Given the description of an element on the screen output the (x, y) to click on. 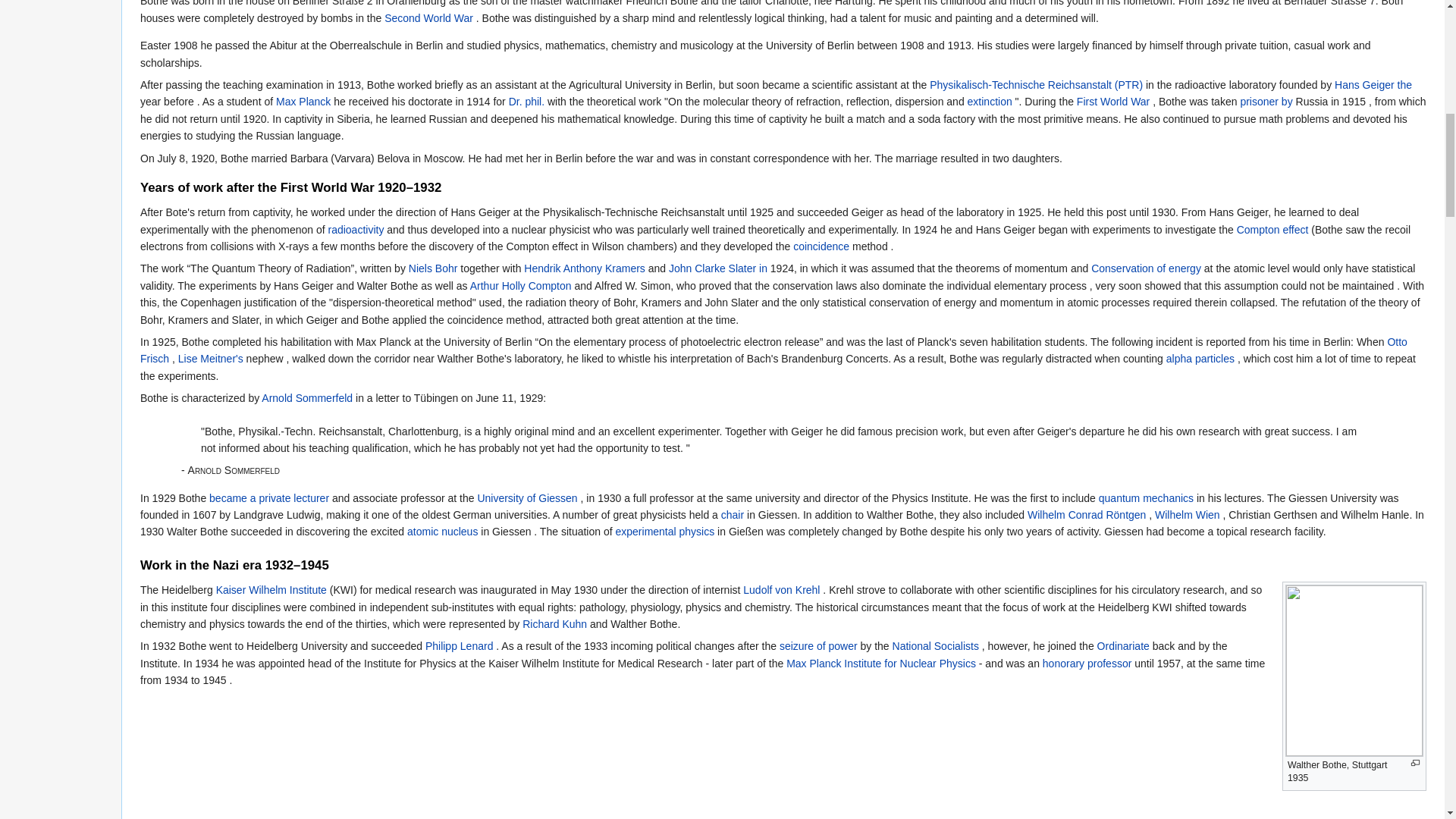
Second World War (428, 18)
Physikalisch-Technische Reichsanstalt (1036, 84)
Max Planck (303, 101)
